Given the description of an element on the screen output the (x, y) to click on. 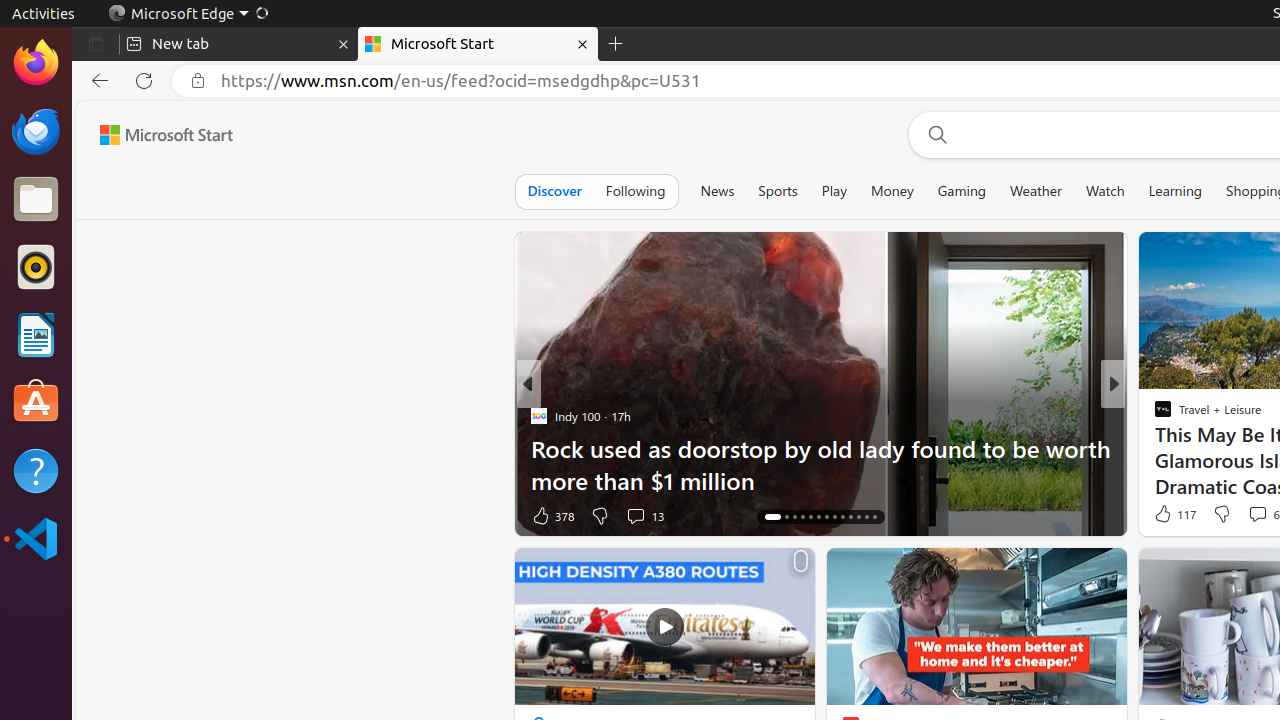
Back Element type: push-button (96, 81)
40 Like Element type: toggle-button (1165, 515)
New Tab Element type: push-button (616, 44)
Skip to content Element type: push-button (159, 135)
Watch Element type: link (1105, 191)
